Given the description of an element on the screen output the (x, y) to click on. 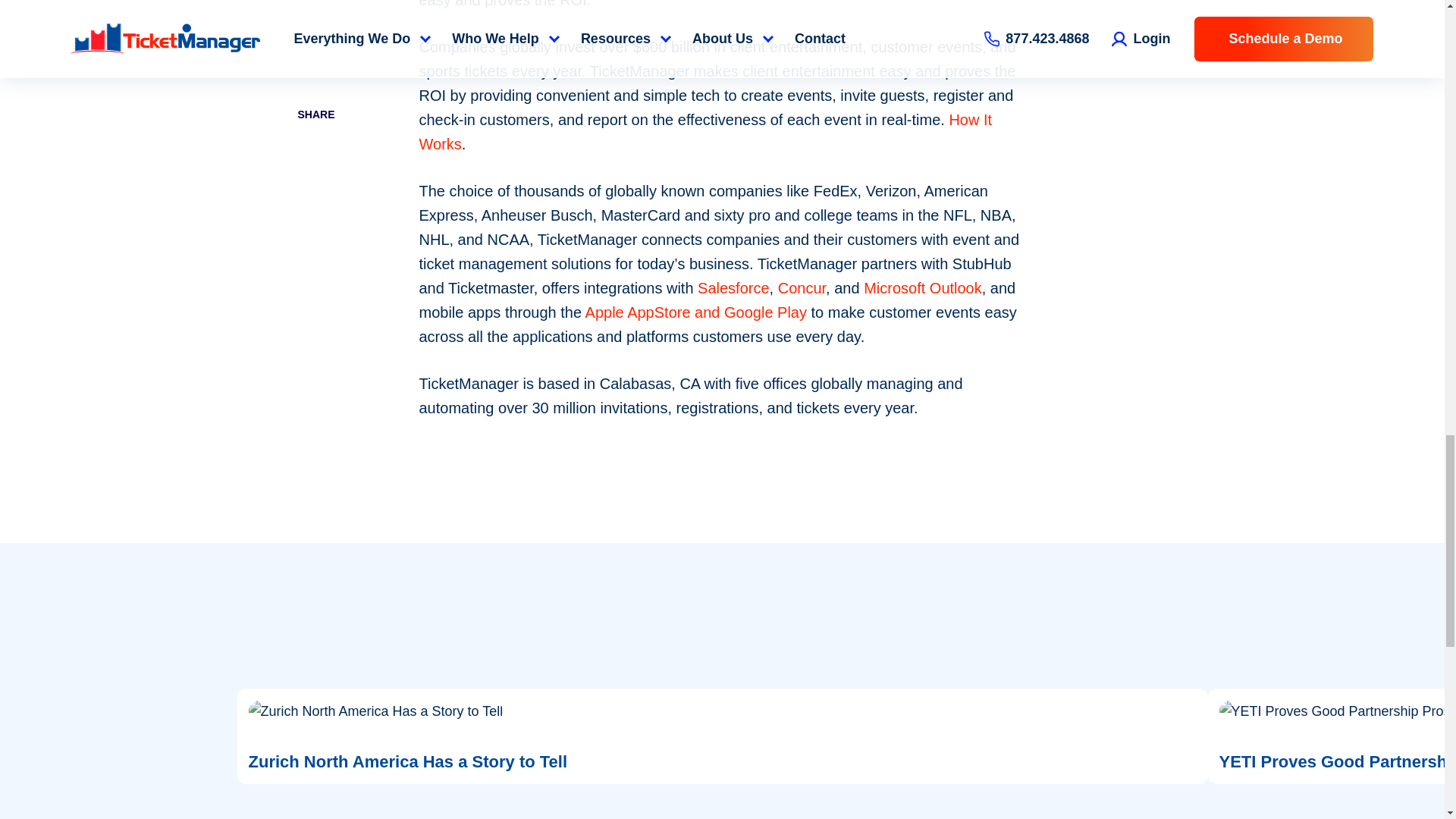
How It Works (705, 131)
Concur (801, 288)
Salesforce (733, 288)
